Given the description of an element on the screen output the (x, y) to click on. 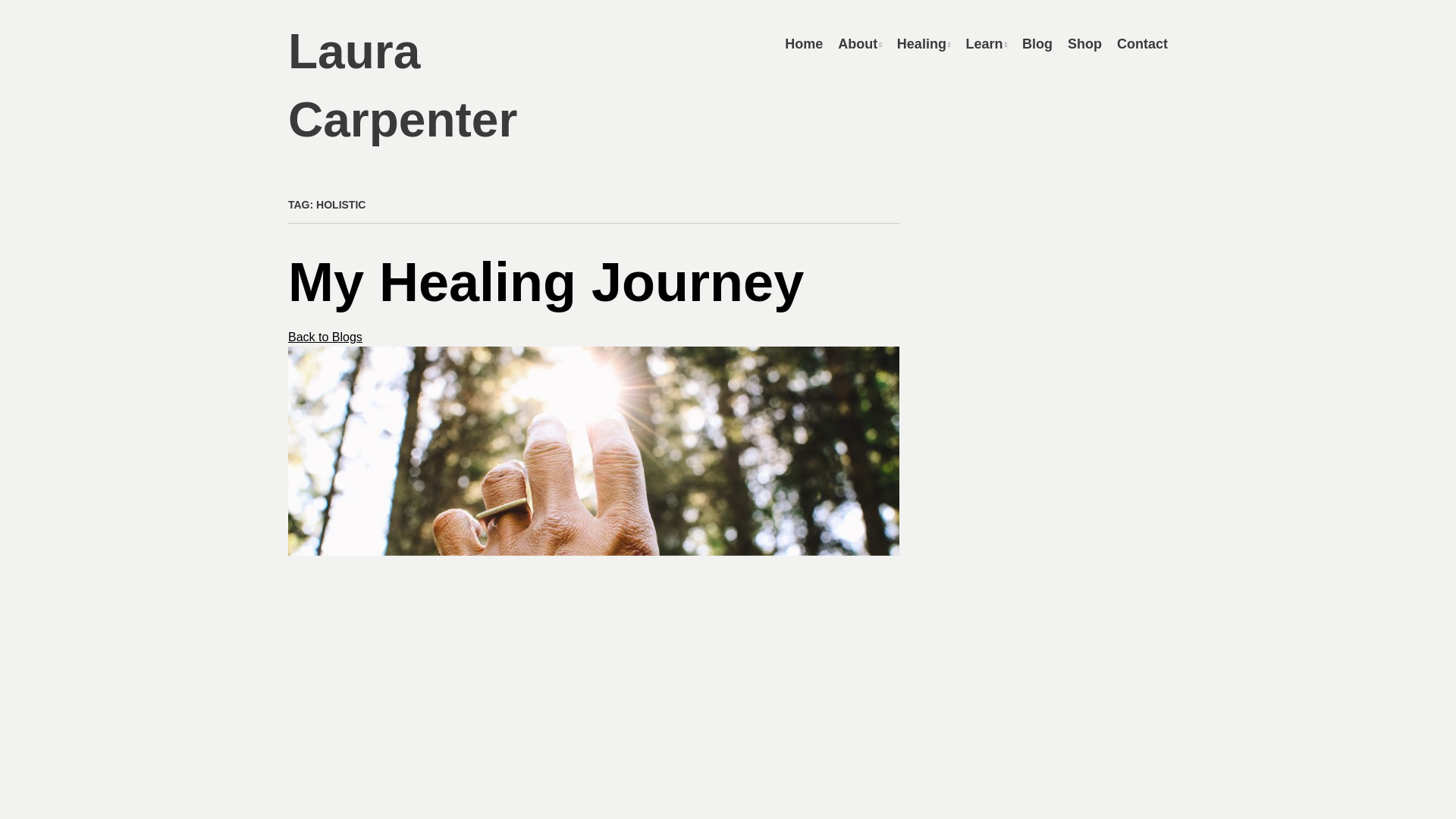
Laura Carpenter (402, 85)
Back to Blogs (325, 336)
My Healing Journey (545, 281)
Contact (1141, 44)
Learn (986, 44)
Skip to content (810, 43)
Home (803, 44)
About (860, 44)
Skip to content (810, 43)
Healing (923, 44)
